Given the description of an element on the screen output the (x, y) to click on. 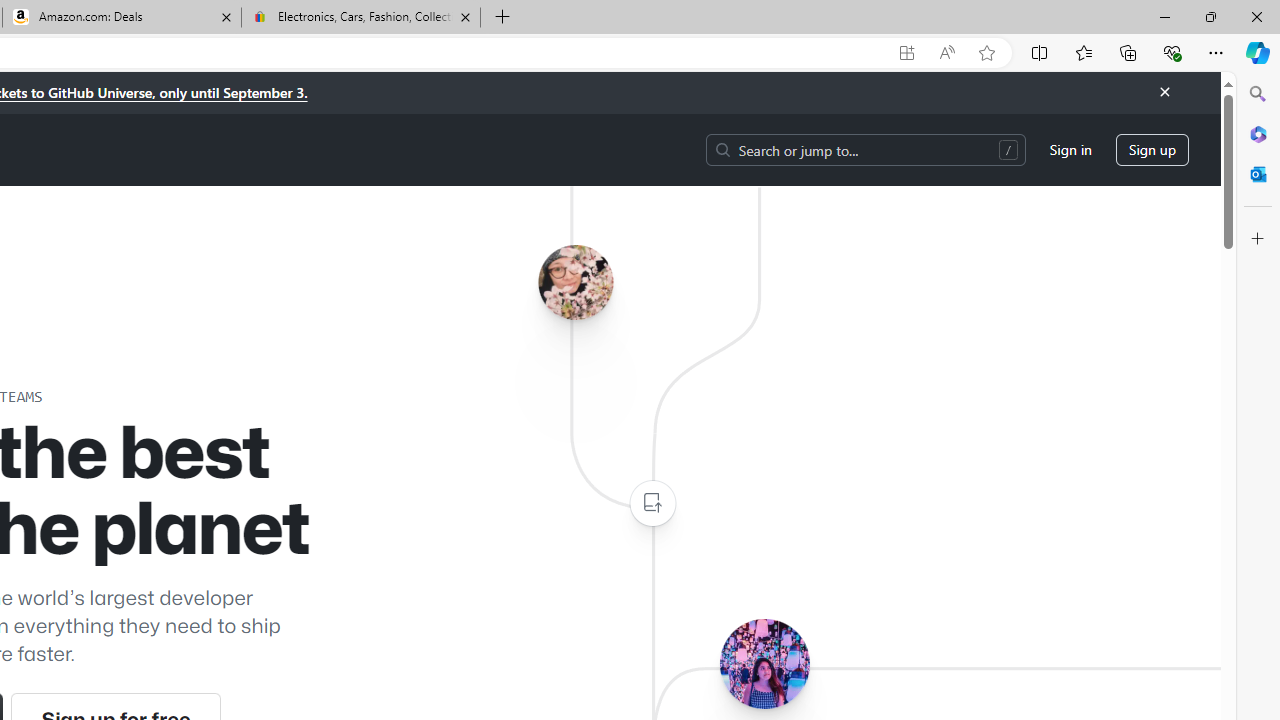
App available. Install GitHub (906, 53)
Class: color-fg-muted width-full (652, 503)
Avatar of the user teenage-witch (764, 663)
Avatar of the user ohjoycelau (575, 281)
Sign up (1152, 149)
